Given the description of an element on the screen output the (x, y) to click on. 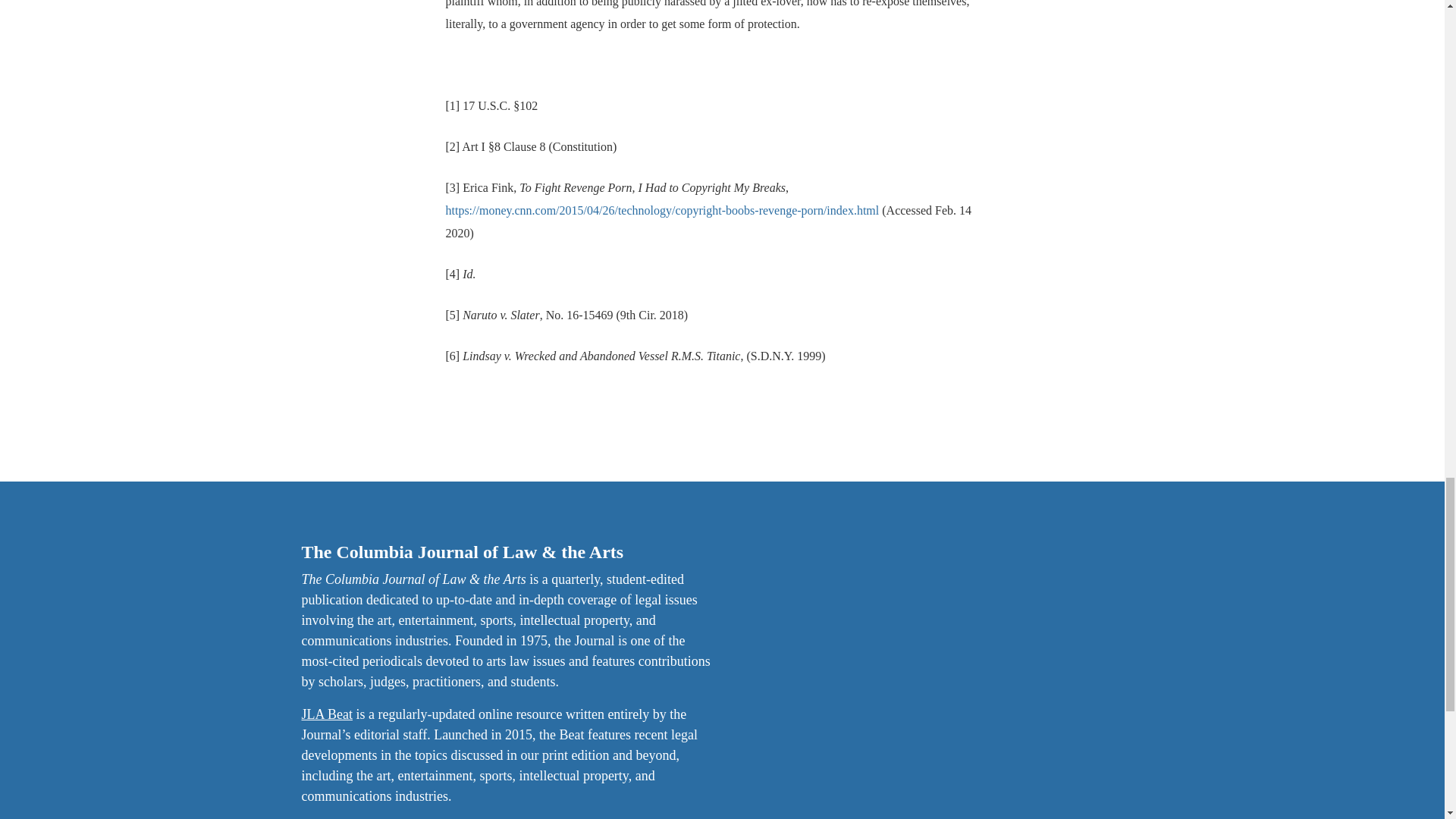
JLA Beat (327, 713)
